Given the description of an element on the screen output the (x, y) to click on. 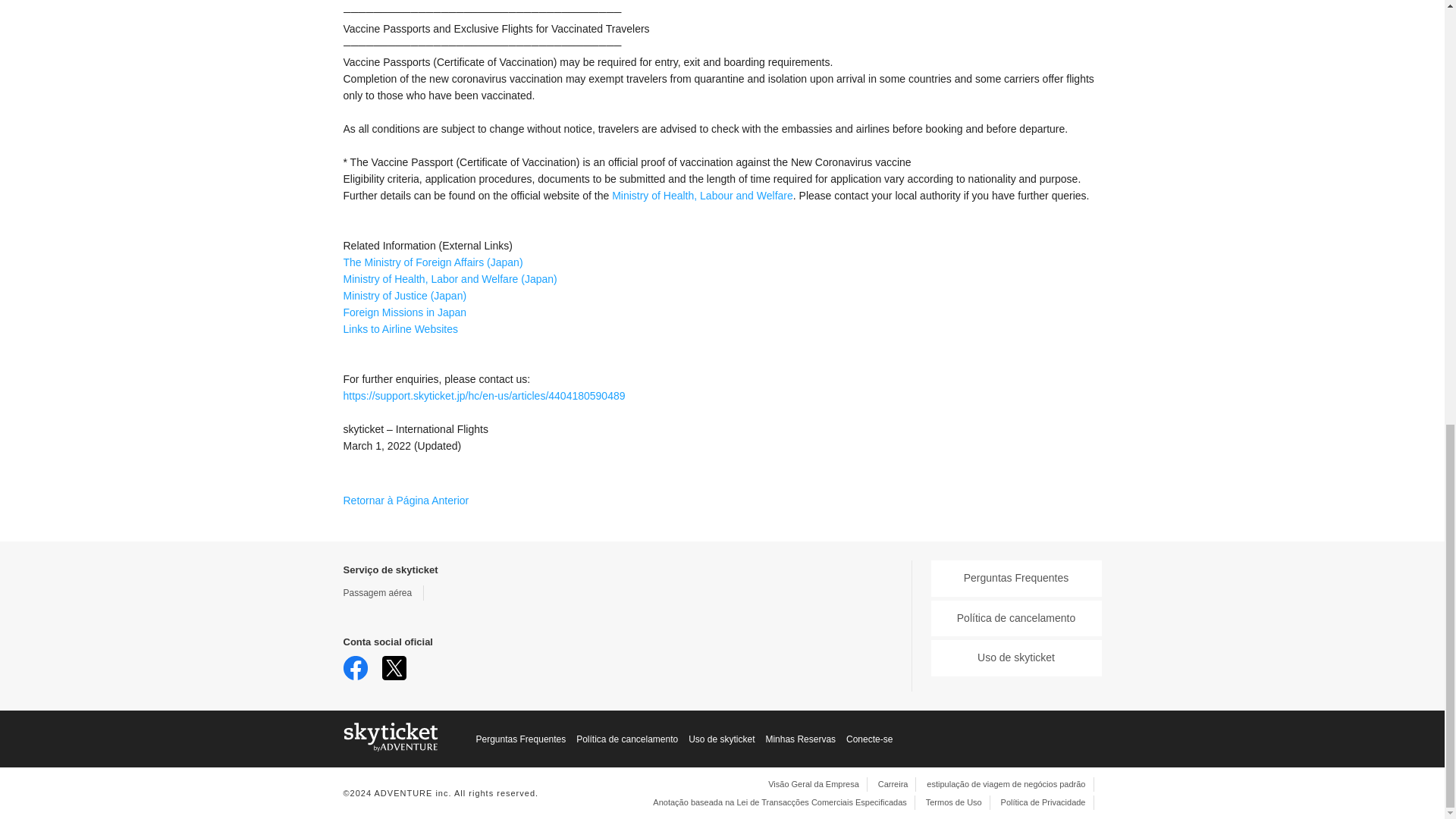
Ministry of Health, Labour and Welfare (702, 195)
Foreign Missions in Japan (403, 312)
Links to Airline Websites (399, 328)
